Given the description of an element on the screen output the (x, y) to click on. 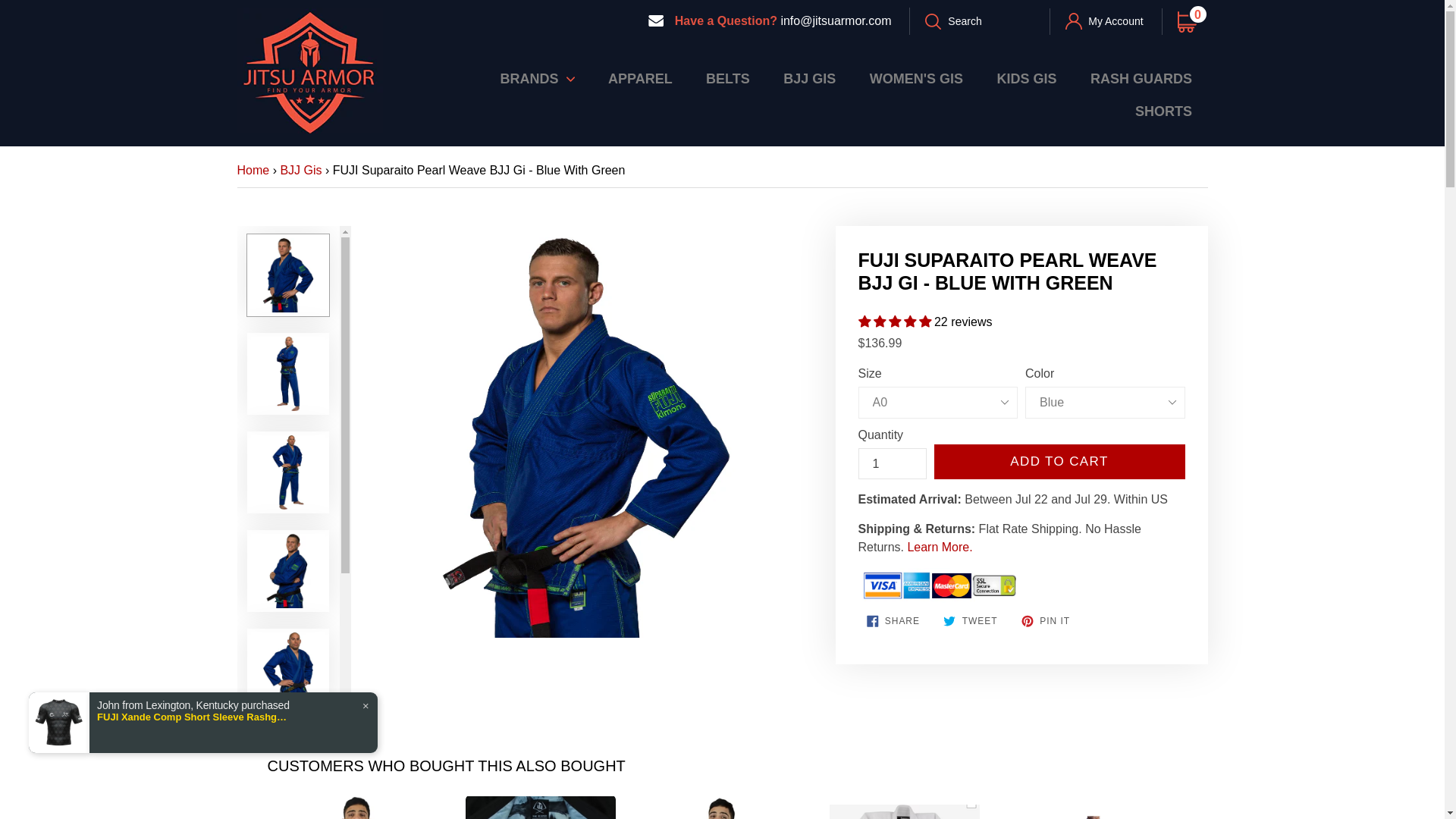
Home (1191, 21)
Submit (252, 169)
Share on Facebook (943, 21)
War Tribe - Women's Reaper BJJ Gi - Black (893, 620)
BELTS (540, 807)
1 (727, 77)
Break Point - Flight Series Gi - Blue (892, 463)
My Account (1086, 807)
Tweet on Twitter (1103, 21)
Keiko Sports Summer BJJ Gi - White (970, 620)
Keiko Sports Summer BJJ Gi - Black (358, 807)
APPAREL (722, 807)
Gameness - Air 2.0 Gi - White (639, 77)
Pin on Pinterest (904, 807)
